Given the description of an element on the screen output the (x, y) to click on. 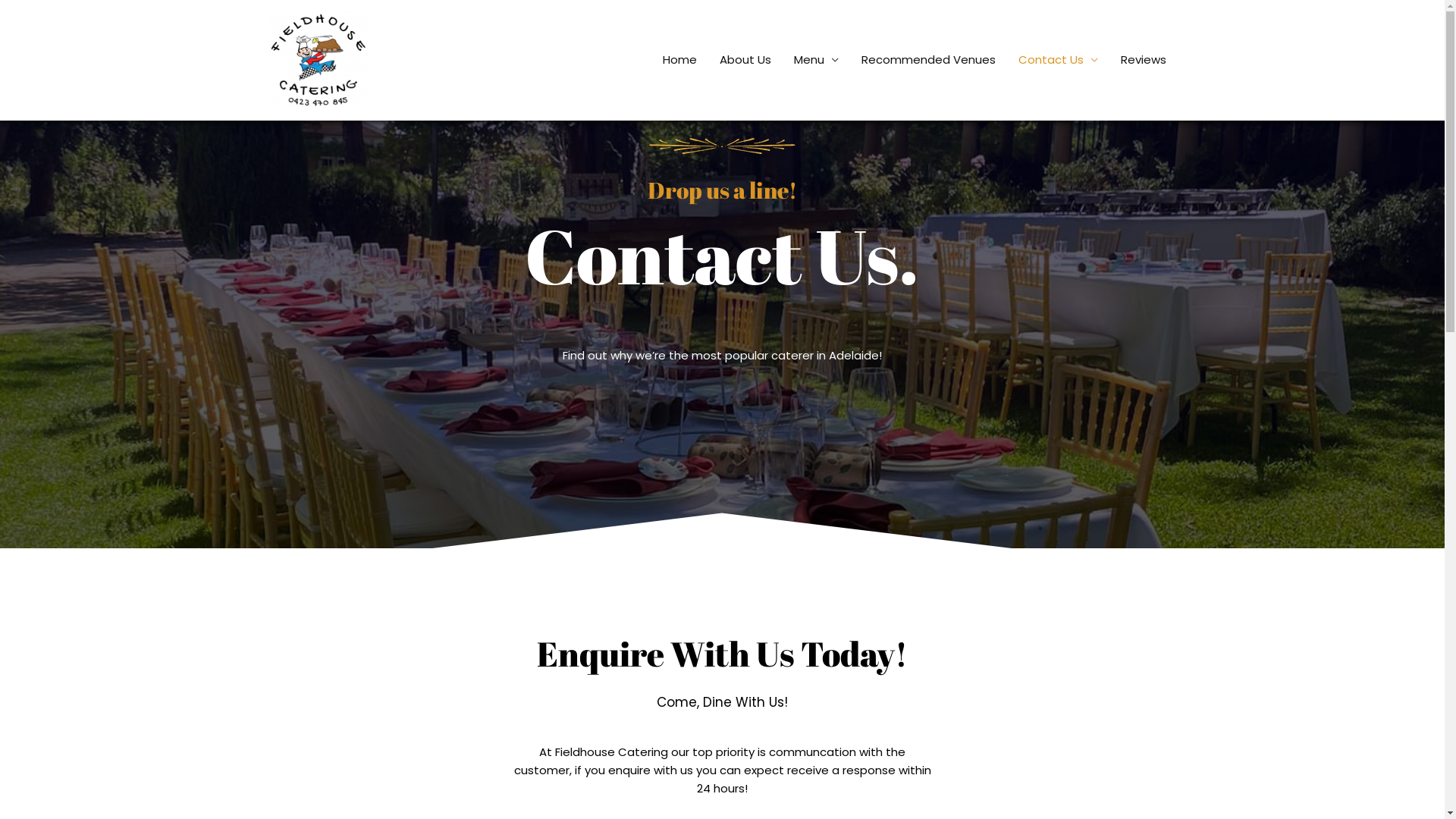
Menu Element type: text (816, 59)
Home Element type: text (678, 59)
Recommended Venues Element type: text (927, 59)
About Us Element type: text (745, 59)
Reviews Element type: text (1142, 59)
Contact Us Element type: text (1058, 59)
